Given the description of an element on the screen output the (x, y) to click on. 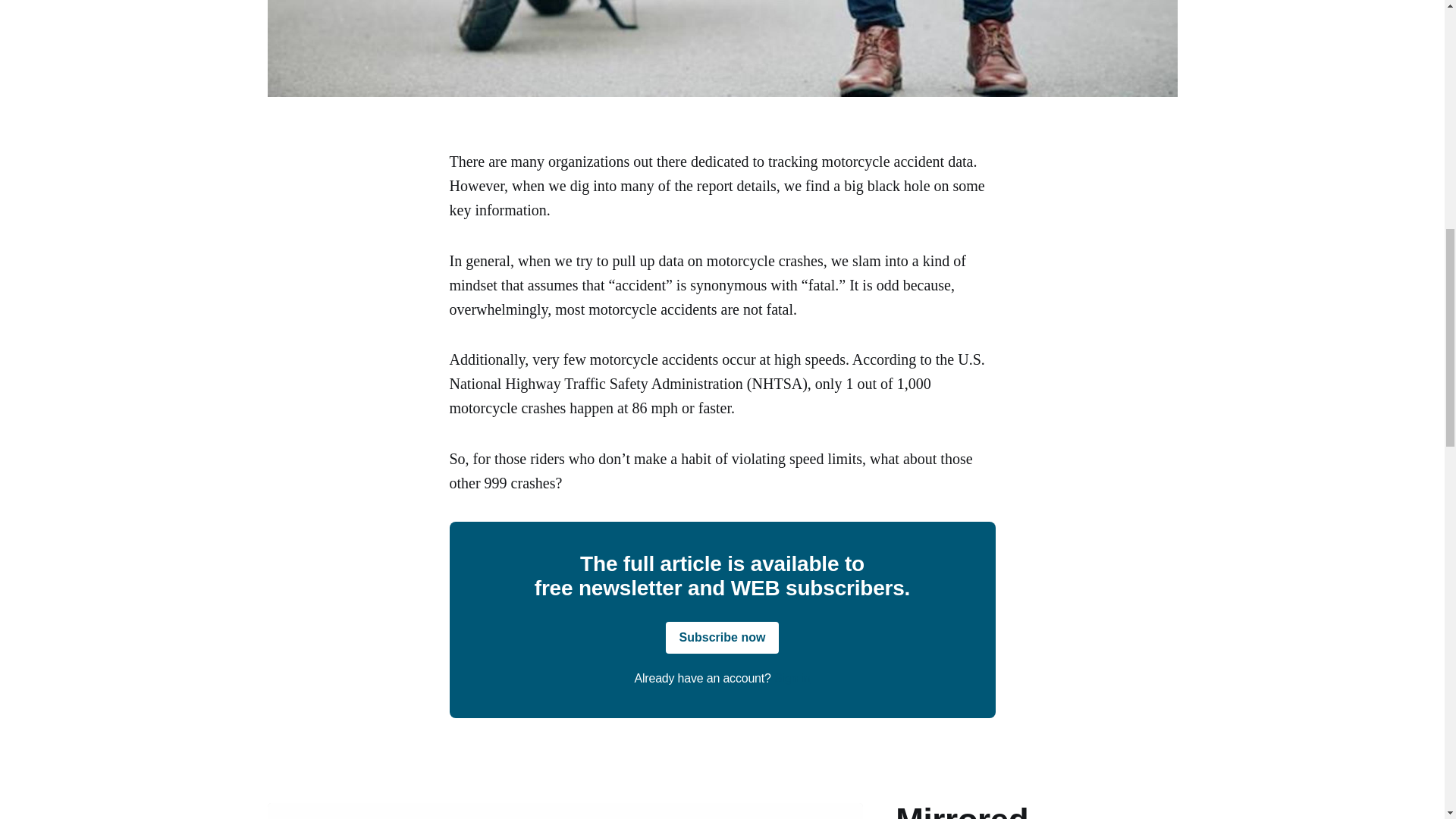
Sign in (792, 677)
Subscribe now (721, 637)
